Given the description of an element on the screen output the (x, y) to click on. 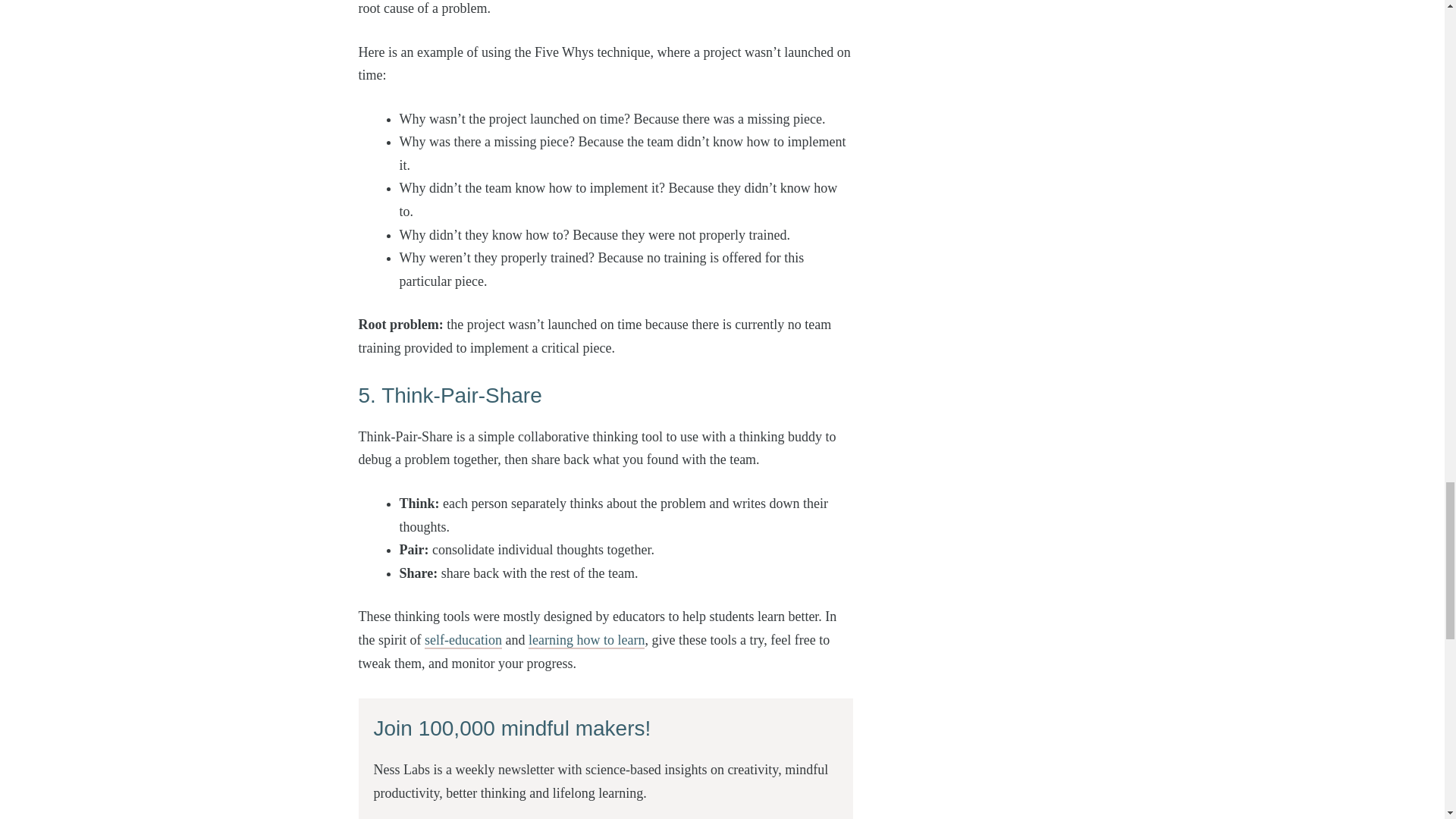
learning how to learn (586, 640)
self-education (463, 640)
